Given the description of an element on the screen output the (x, y) to click on. 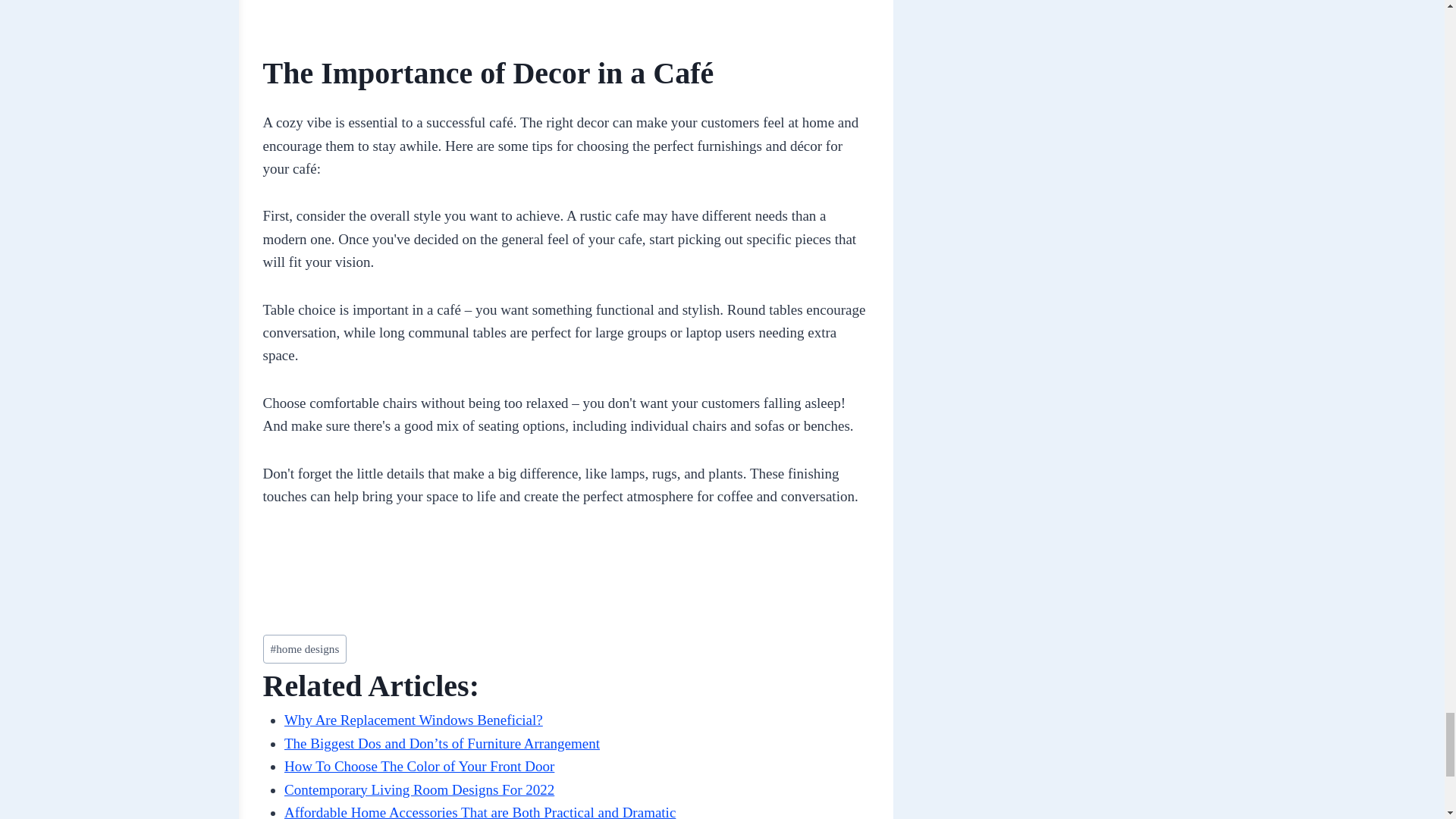
home designs (304, 648)
